Given the description of an element on the screen output the (x, y) to click on. 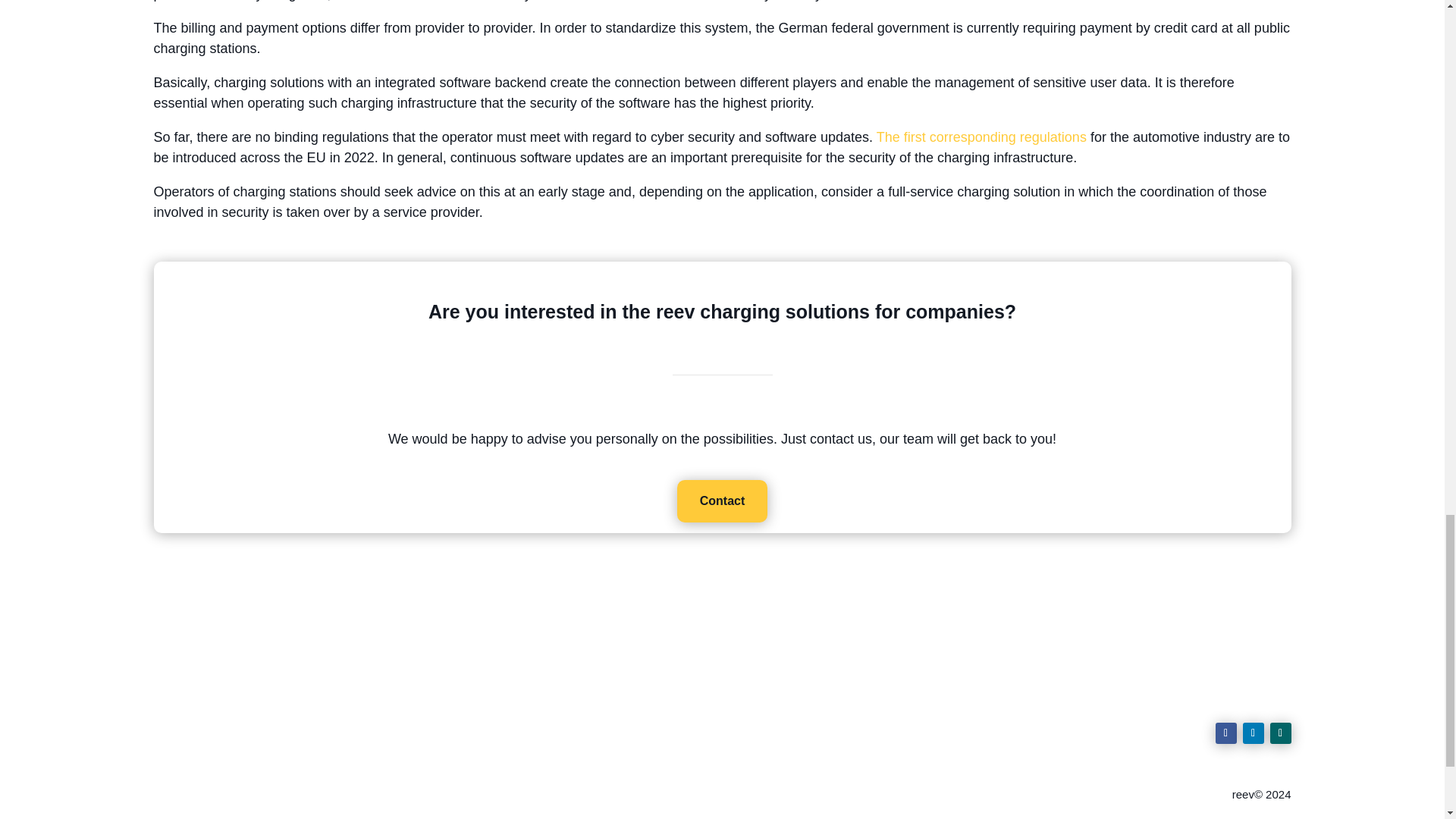
Follow on XING (1279, 732)
Follow on Facebook (1225, 732)
Follow on LinkedIn (1252, 732)
